Given the description of an element on the screen output the (x, y) to click on. 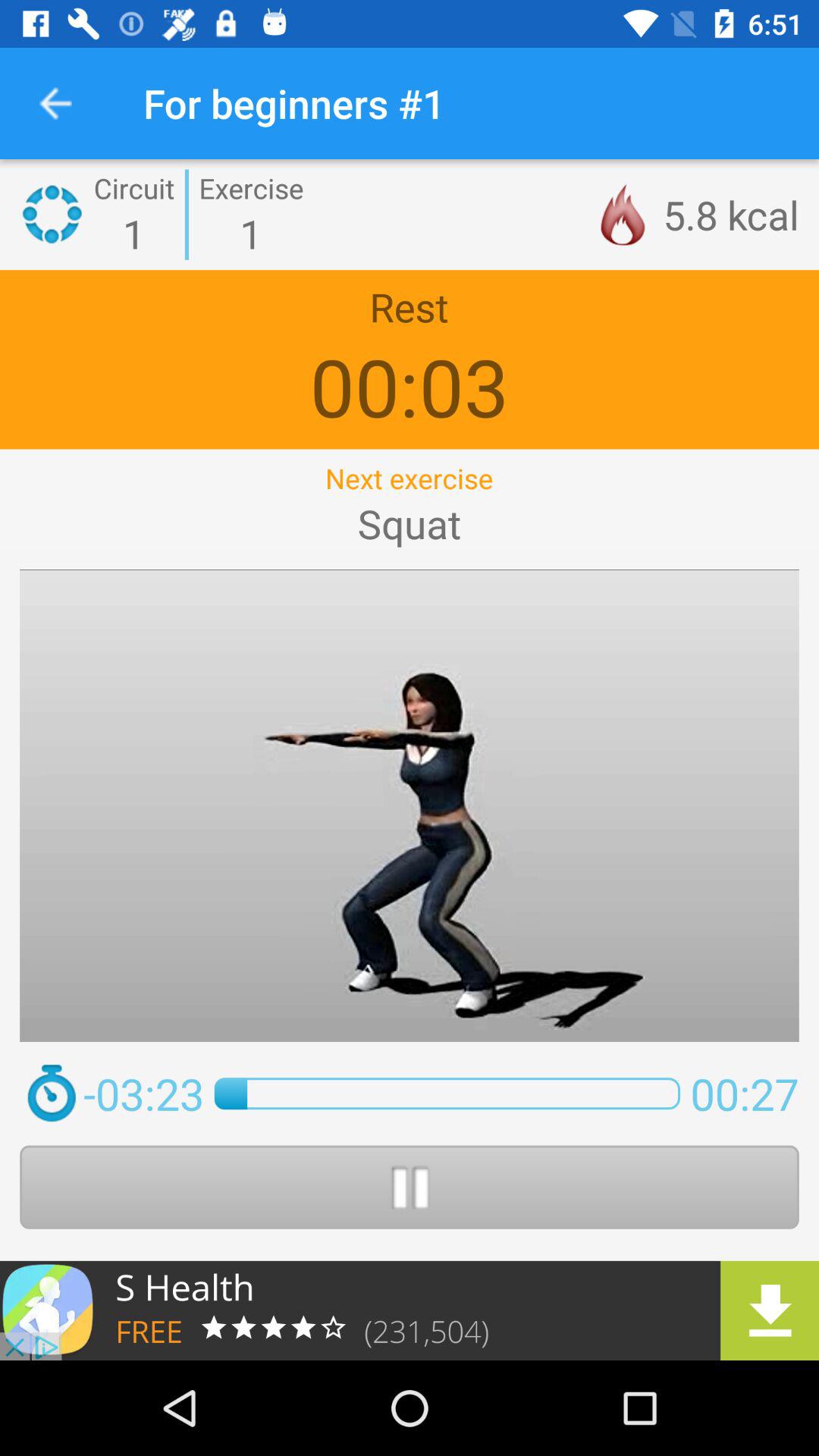
click on pause button (409, 1186)
clickl on the time icon (51, 1093)
